Given the description of an element on the screen output the (x, y) to click on. 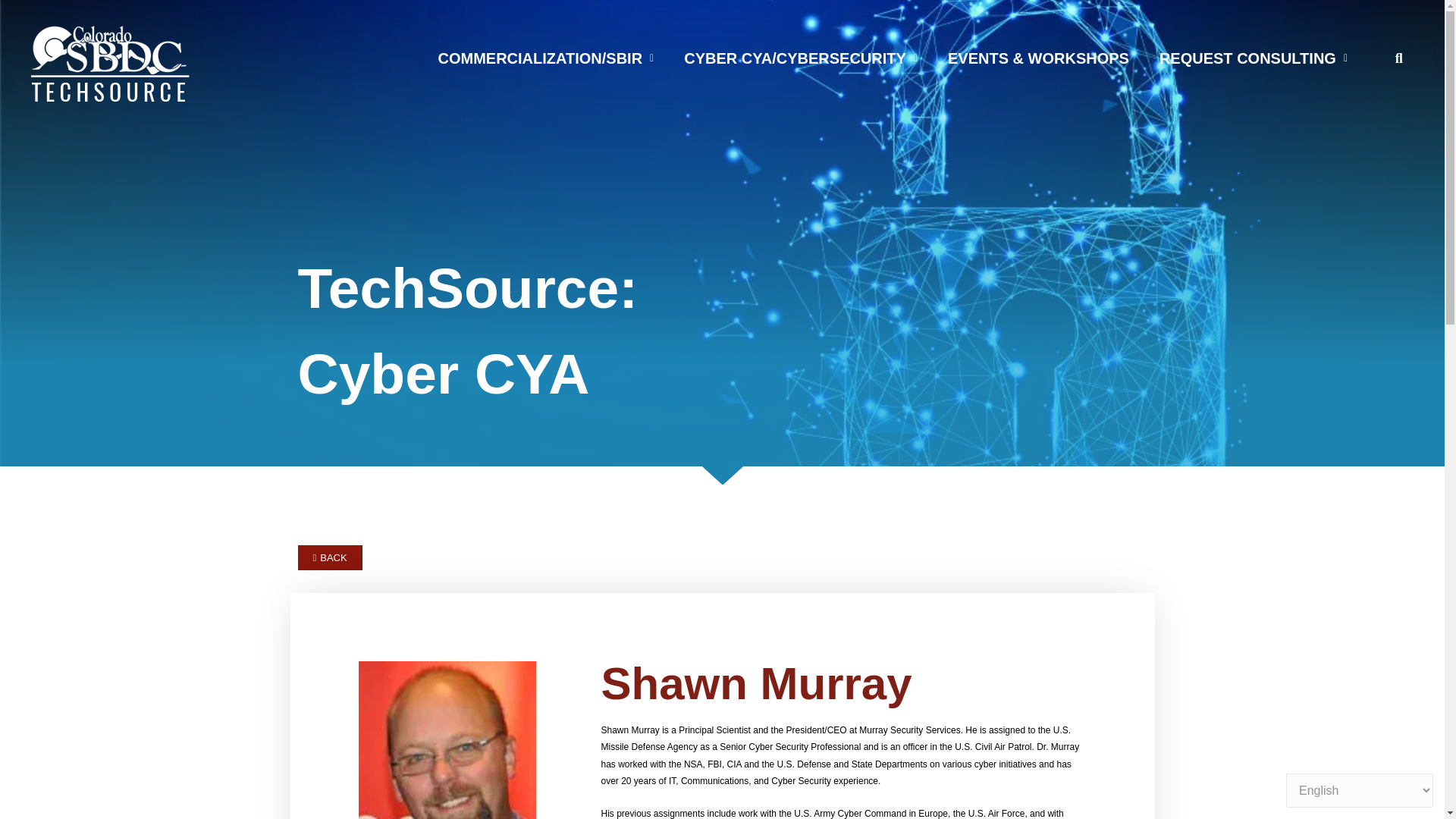
REQUEST CONSULTING (1253, 58)
